Given the description of an element on the screen output the (x, y) to click on. 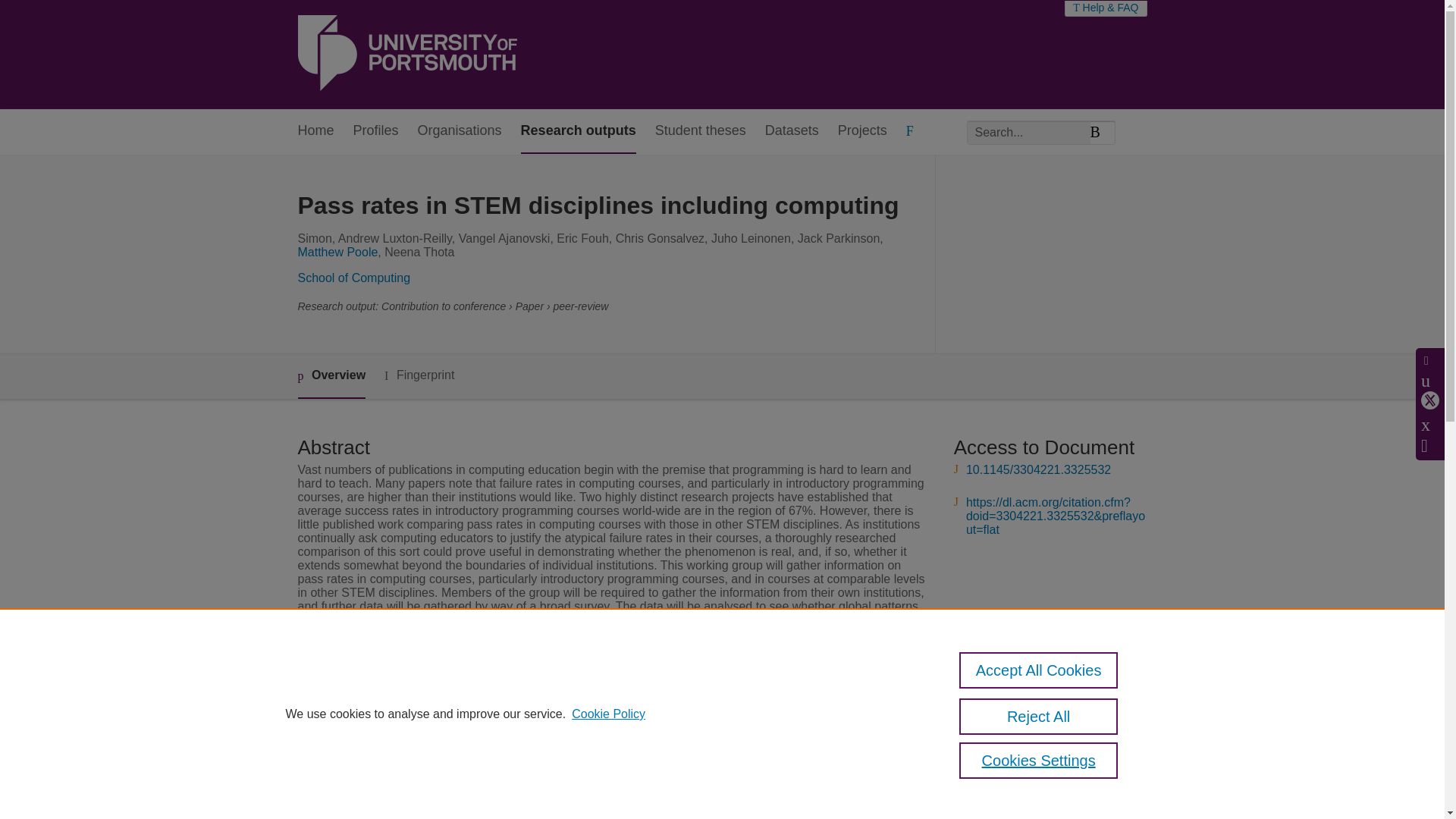
Projects (862, 130)
School of Computing (353, 277)
Fingerprint (419, 375)
Matthew Poole (337, 251)
University of Portsmouth Home (406, 54)
Profiles (375, 130)
Overview (331, 375)
Datasets (791, 130)
